Given the description of an element on the screen output the (x, y) to click on. 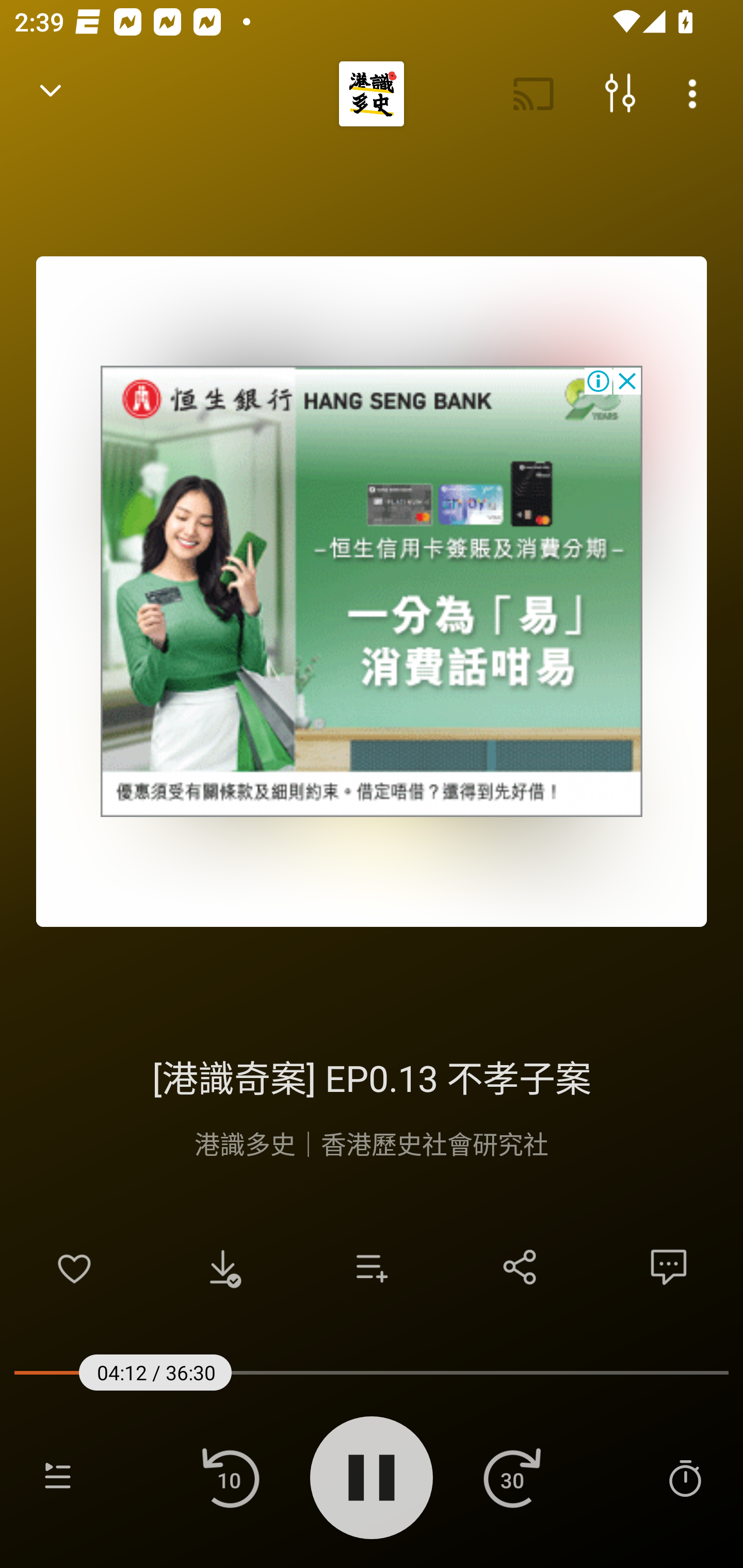
Cast. Disconnected (533, 93)
 Back (50, 94)
Advertisement (371, 590)
[港識奇案] EP0.13 不孝子案 (371, 1075)
港識多史｜香港歷史社會研究社 (371, 1142)
Comments (668, 1266)
Add to Favorites (73, 1266)
Share (519, 1266)
 Playlist (57, 1477)
Sleep Timer  (684, 1477)
